Given the description of an element on the screen output the (x, y) to click on. 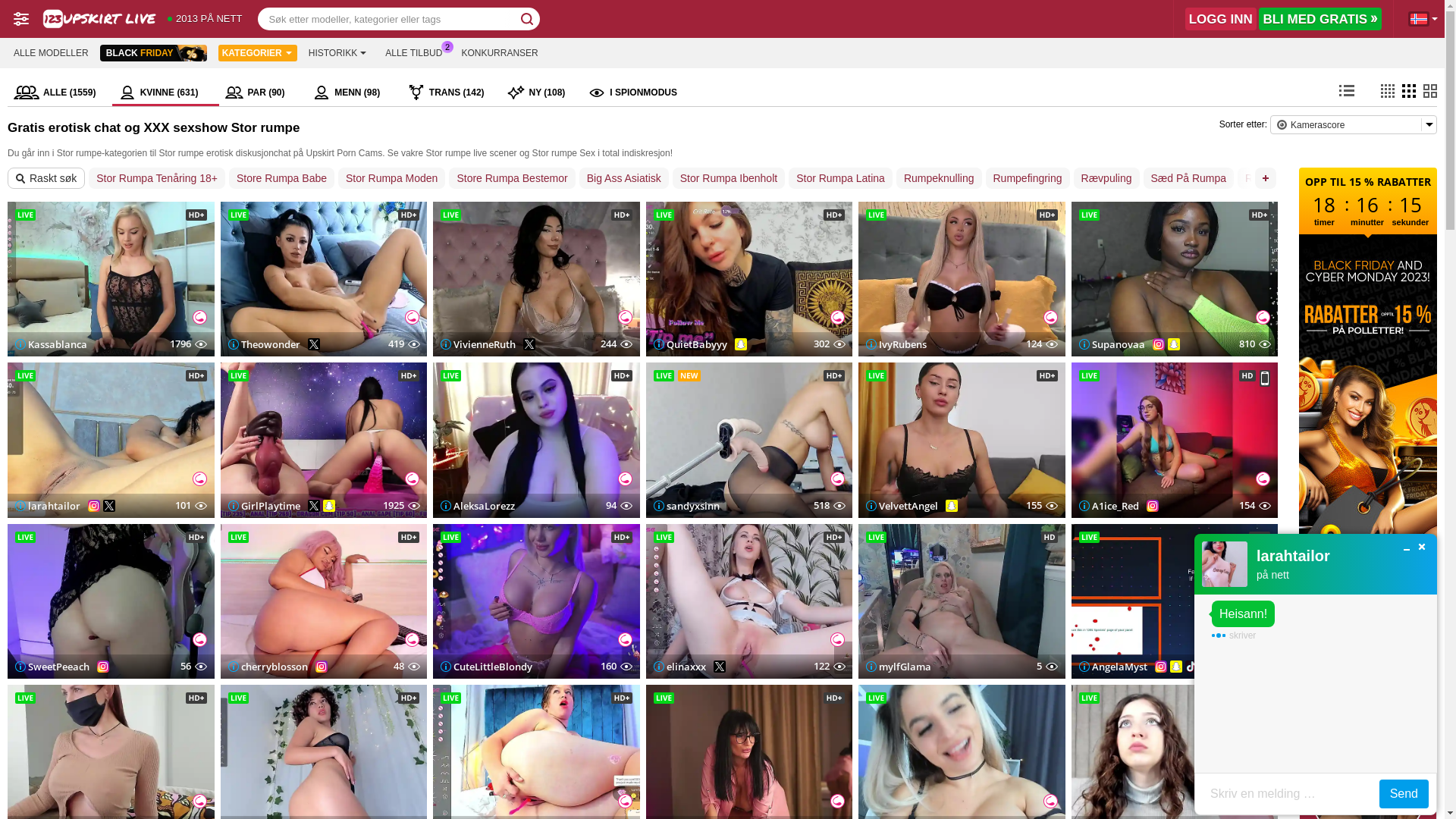
mylfGlama Element type: text (898, 666)
VivienneRuth Element type: text (477, 344)
Stor Rumpa Latina Element type: text (840, 177)
IvyRubens Element type: text (896, 344)
sandyxsinn Element type: text (686, 505)
A1ice_Red Element type: text (1108, 505)
larahtailor Element type: text (47, 505)
GirlPlaytime Element type: text (263, 505)
PAR (90) Element type: text (262, 92)
BLACK FRIDAY Element type: text (153, 52)
Rumpefingring Element type: text (1027, 177)
VelvettAngel Element type: text (902, 505)
Big Ass Asiatisk Element type: text (623, 177)
Store Rumpa Bestemor Element type: text (511, 177)
BLI MED GRATIS Element type: text (1319, 18)
Theowonder Element type: text (263, 344)
ALLE TILBUD Element type: text (413, 52)
Stor Rumpa Moden Element type: text (391, 177)
Supanovaa Element type: text (1111, 344)
elinaxxx Element type: text (679, 666)
ALLE MODELLER Element type: text (51, 52)
LOGG INN Element type: text (1220, 18)
SweetPeeach Element type: text (52, 666)
KVINNE (631) Element type: text (165, 92)
ALLE (1559) Element type: text (59, 92)
Stor Rumpa Ibenholt Element type: text (728, 177)
AleksaLorezz Element type: text (477, 505)
CuteLittleBlondy Element type: text (486, 666)
AngelaMyst Element type: text (1112, 666)
Rumpeslikking Element type: text (1279, 177)
Store Rumpa Babe Element type: text (281, 177)
TRANS (142) Element type: text (451, 92)
QuietBabyyy Element type: text (690, 344)
Kassablanca Element type: text (51, 344)
MENN (98) Element type: text (353, 92)
Rumpeknulling Element type: text (939, 177)
NY (108) Element type: text (541, 92)
I SPIONMODUS Element type: text (632, 92)
cherryblosson Element type: text (267, 666)
KONKURRANSER Element type: text (499, 52)
